Given the description of an element on the screen output the (x, y) to click on. 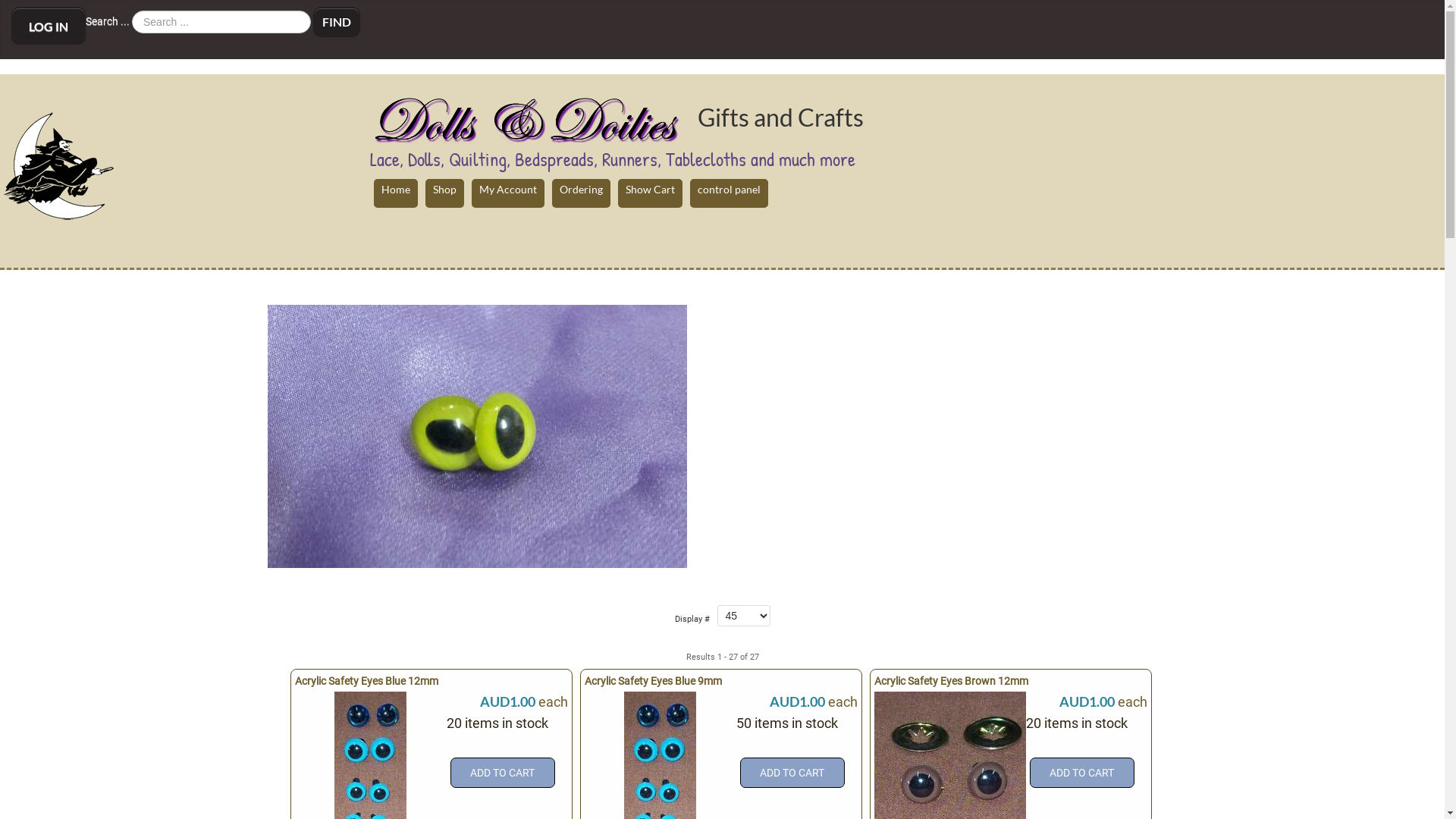
Show Cart Element type: text (650, 192)
Acrylic Safety Eyes Brown 12mm Element type: hover (949, 761)
Ordering Element type: text (581, 192)
Acrylic Safety Eyes Blue 9mm Element type: text (653, 680)
Acrylic Safety Eyes Brown 12mm Element type: text (951, 680)
FIND Element type: text (336, 21)
Acrylic Safety Eyes Blue 12mm Element type: hover (370, 766)
My Account Element type: text (507, 192)
Acrylic Safety Eyes Blue 12mm Element type: text (366, 680)
ADD TO CART Element type: text (792, 772)
Shop Element type: text (444, 192)
control panel Element type: text (729, 192)
Home Element type: text (395, 192)
LOG IN Element type: text (48, 25)
ADD TO CART Element type: text (1081, 772)
ADD TO CART Element type: text (502, 772)
Acrylic Safety Eyes Blue 9mm Element type: hover (660, 766)
